Given the description of an element on the screen output the (x, y) to click on. 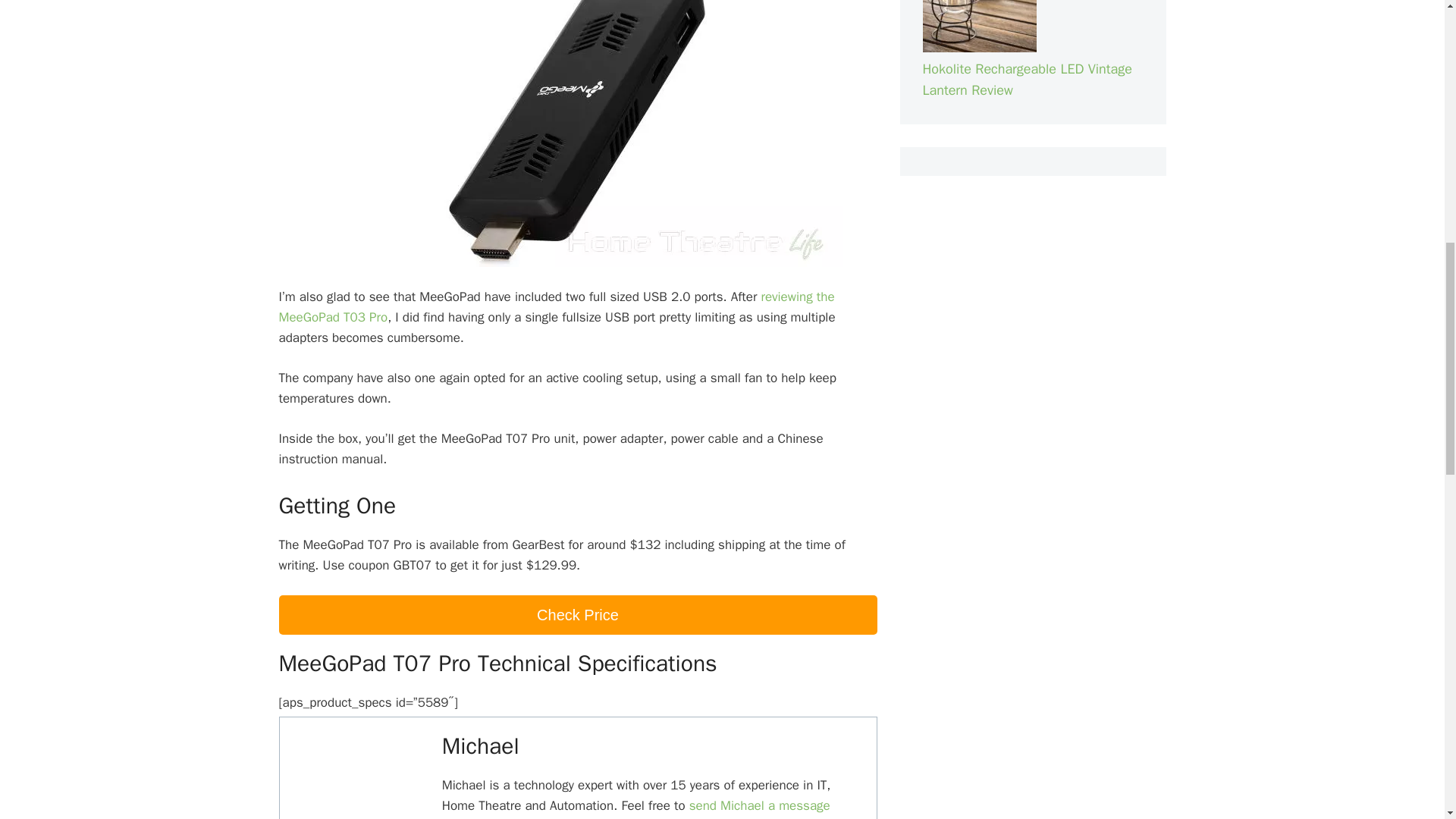
reviewing the MeeGoPad T03 Pro (556, 307)
Check Price (578, 614)
send Michael a message here (635, 808)
